Given the description of an element on the screen output the (x, y) to click on. 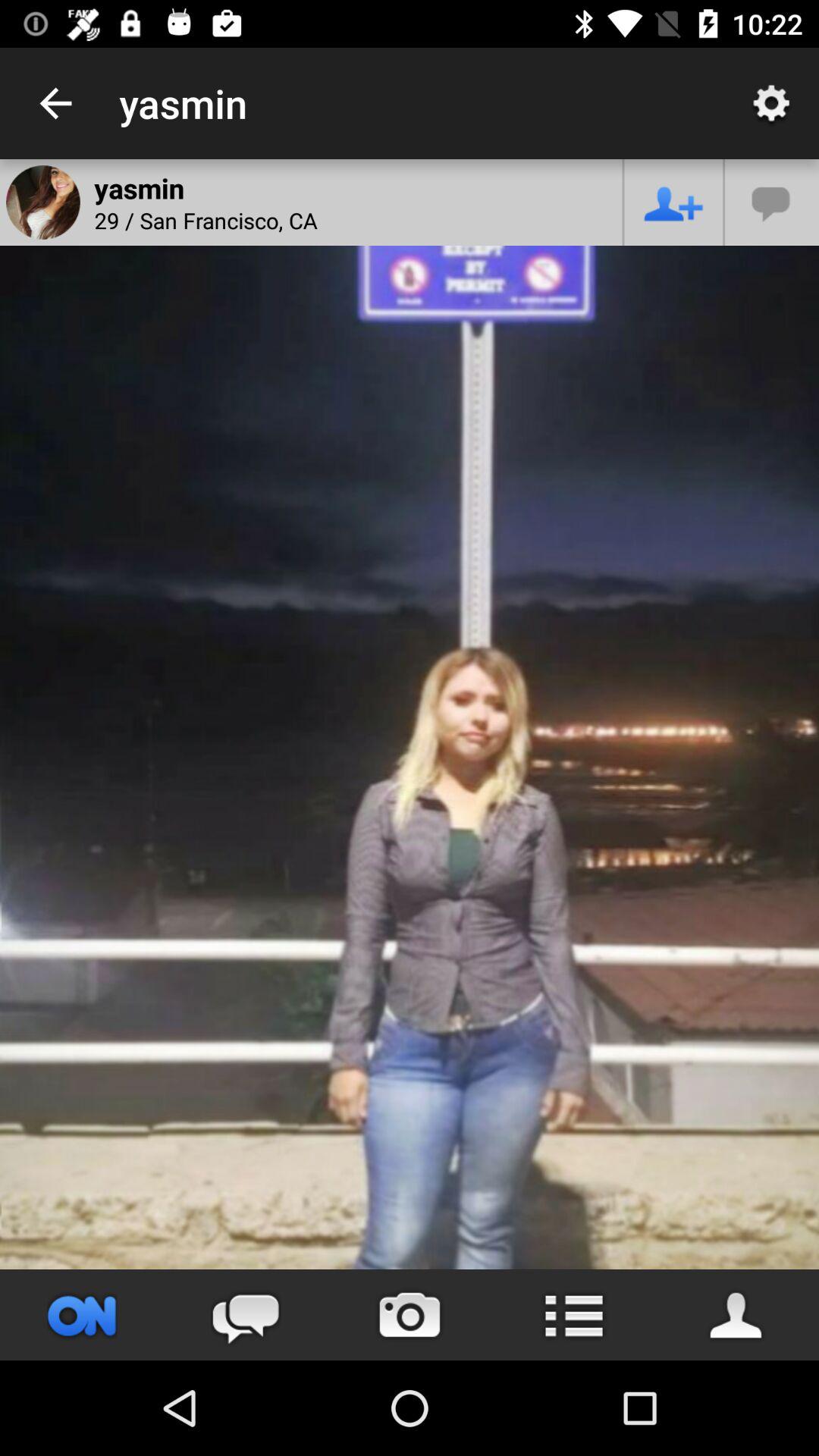
select person (737, 1315)
